Given the description of an element on the screen output the (x, y) to click on. 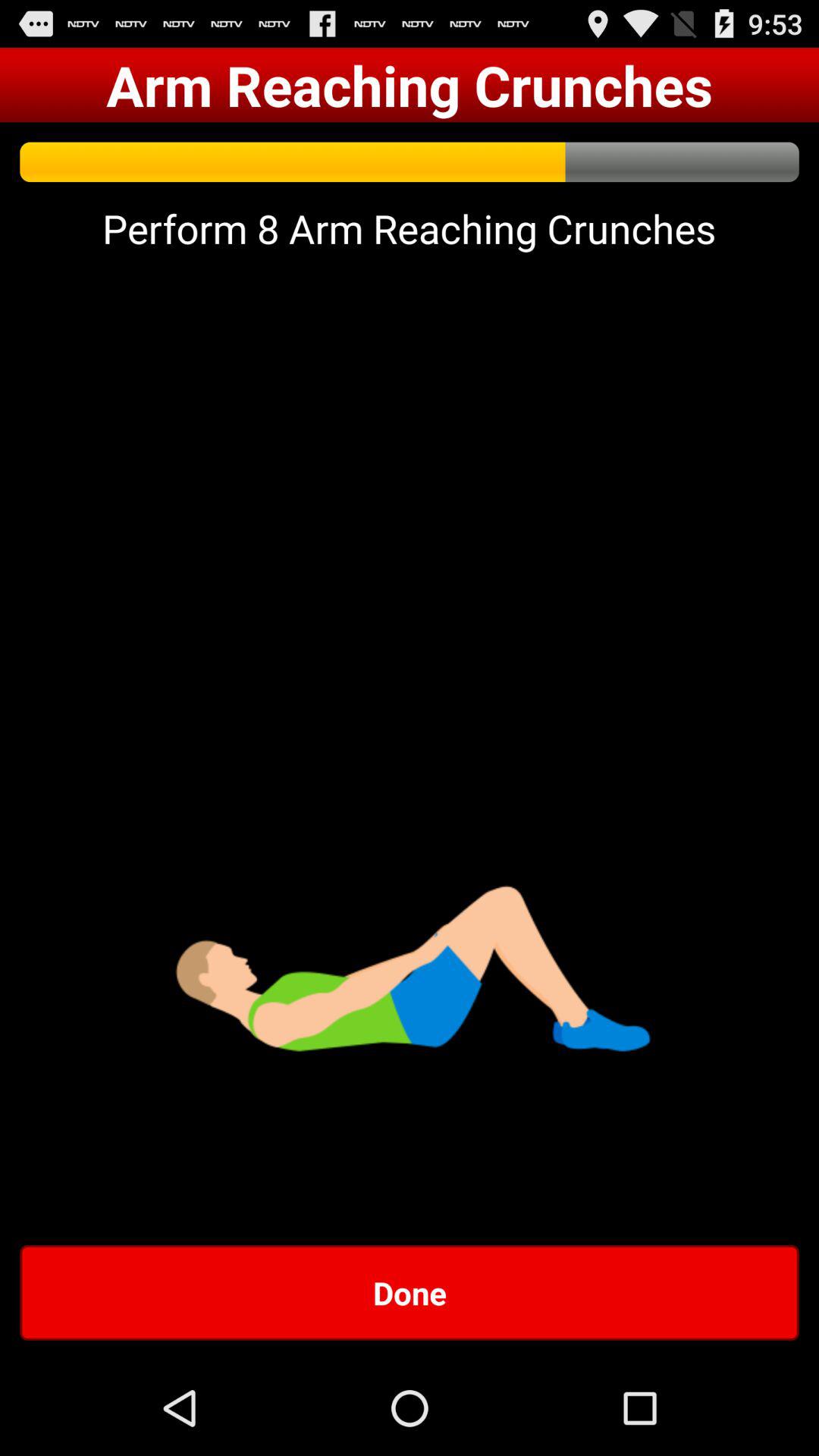
open the app below the perform 8 arm app (409, 1292)
